Given the description of an element on the screen output the (x, y) to click on. 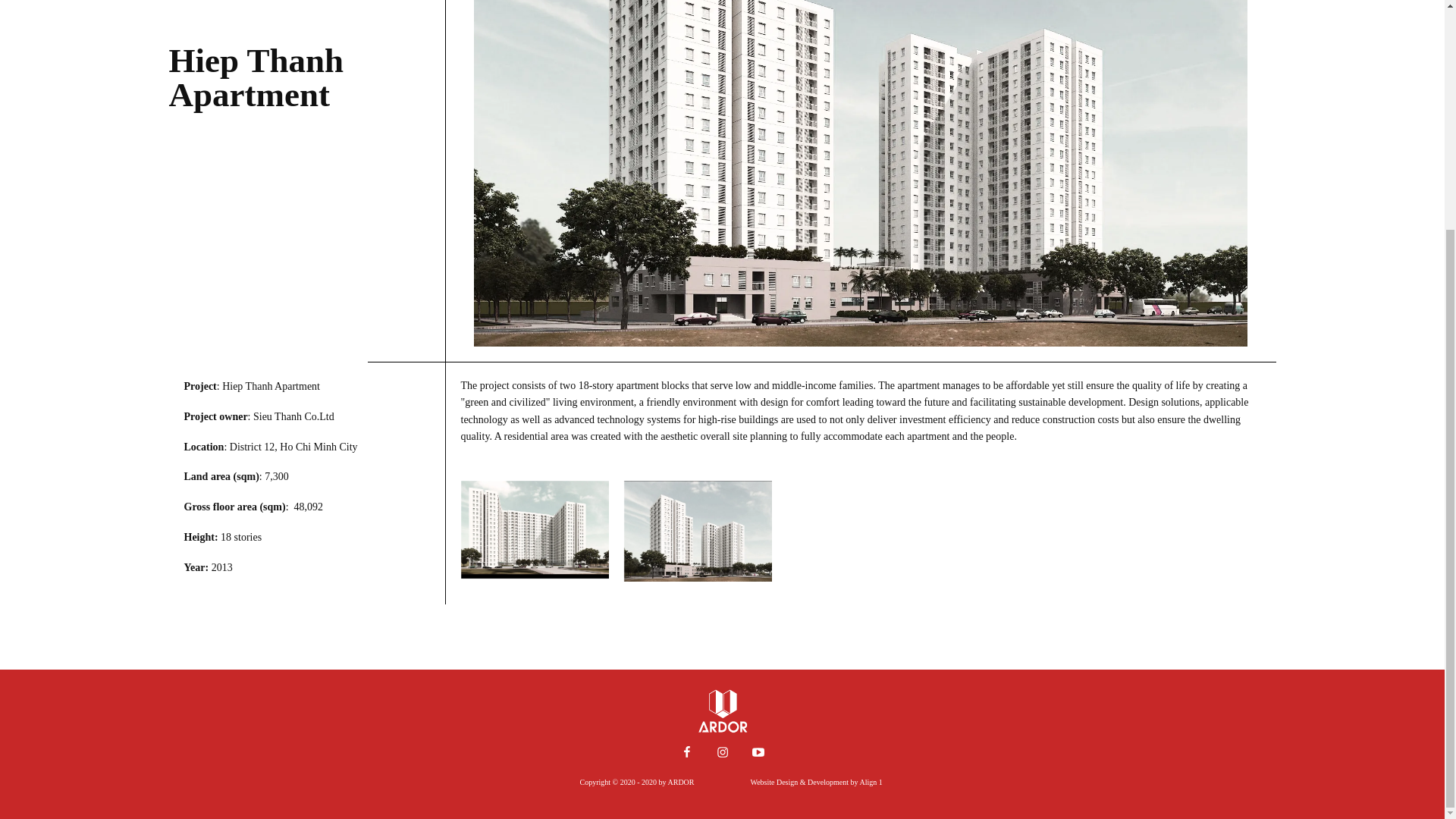
Align 1 (870, 782)
